Given the description of an element on the screen output the (x, y) to click on. 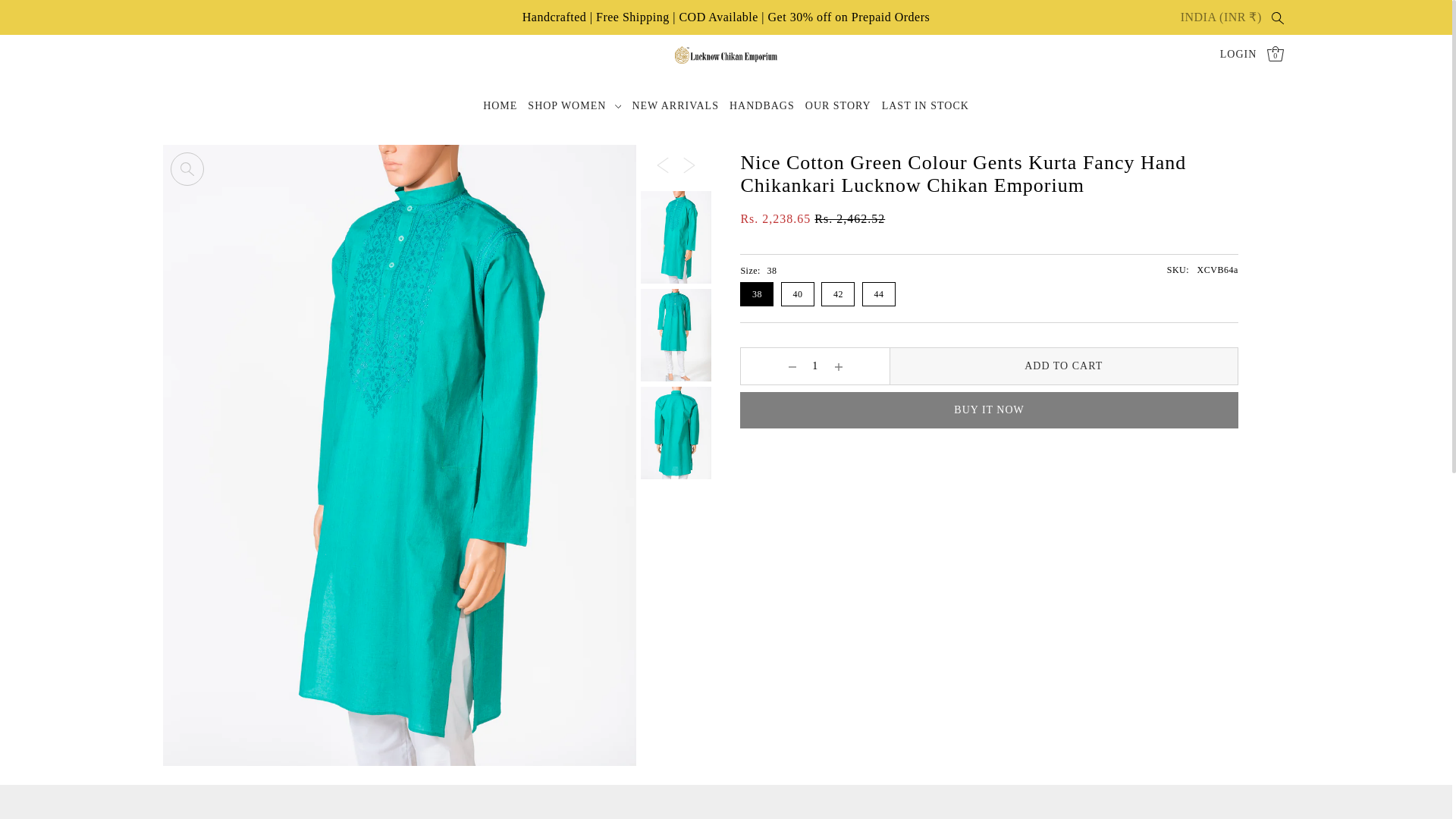
click to zoom-in (186, 168)
HOME (499, 106)
LOGIN (1238, 54)
SHOP WOMEN (574, 106)
